Given the description of an element on the screen output the (x, y) to click on. 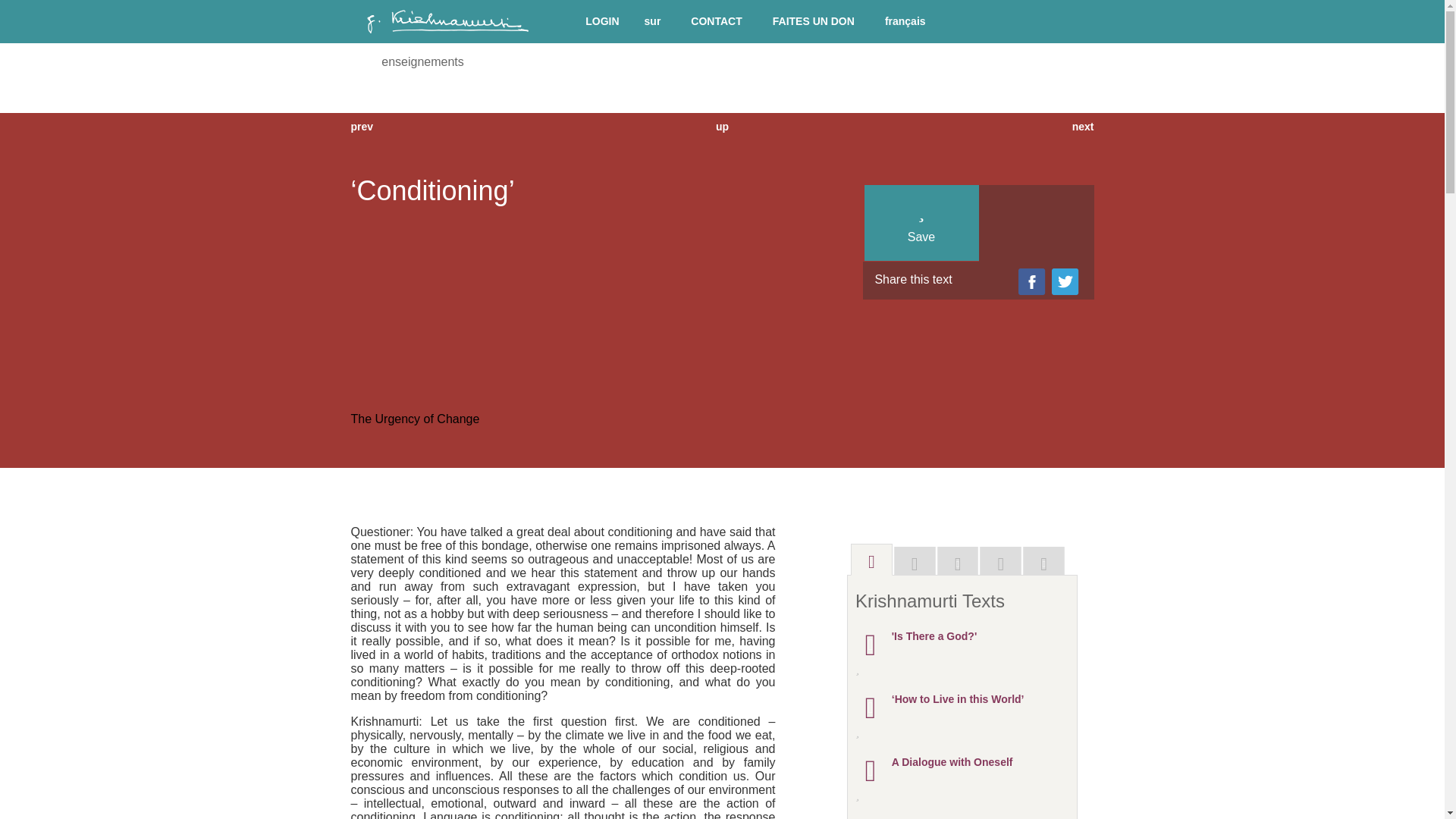
haut (722, 126)
Save (874, 668)
Home (371, 105)
A Dialogue with Oneself (952, 762)
sur (652, 21)
'Is There a God?' (933, 635)
Save (874, 731)
Accueil (447, 38)
